Given the description of an element on the screen output the (x, y) to click on. 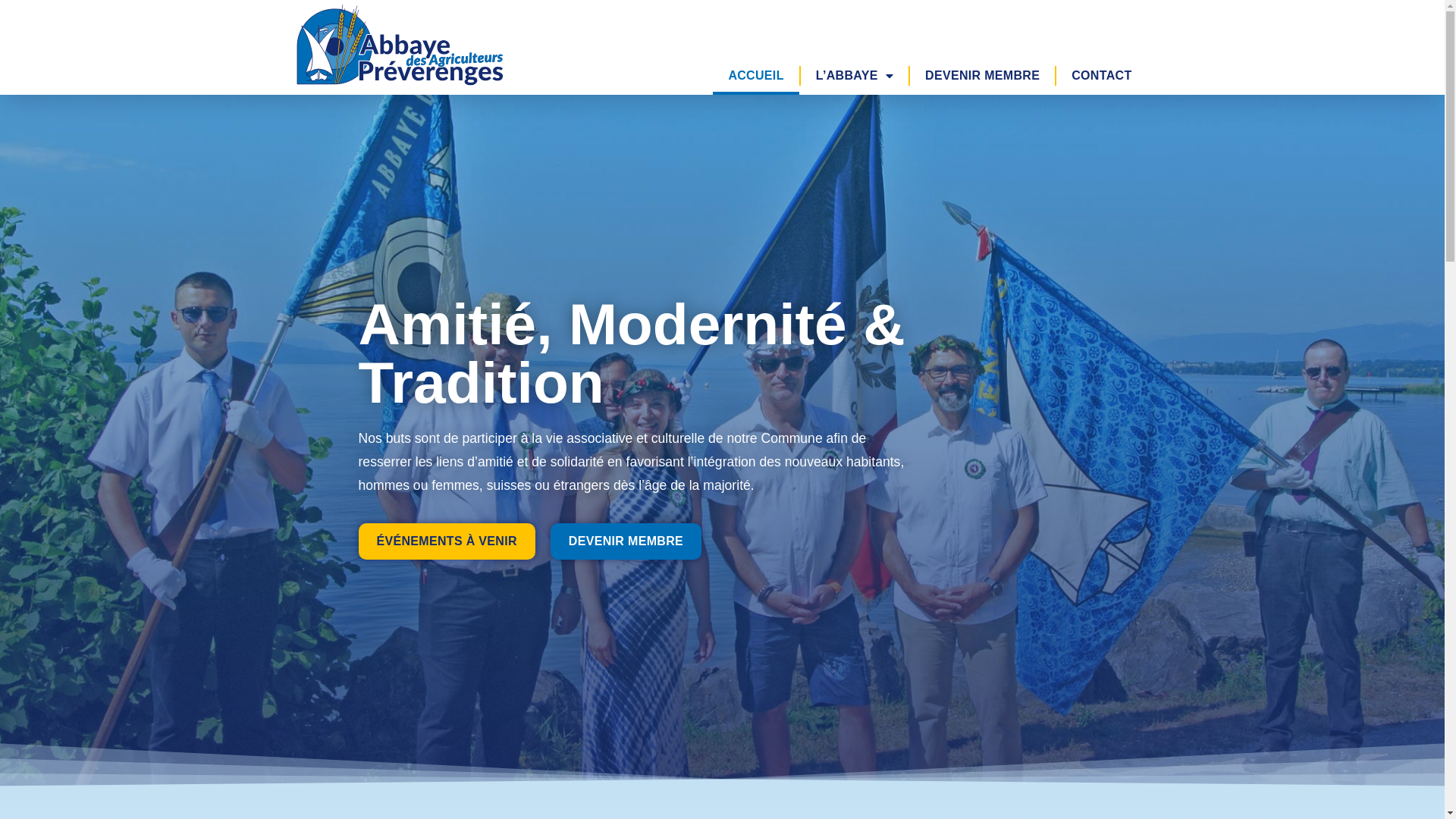
DEVENIR MEMBRE Element type: text (625, 541)
DEVENIR MEMBRE Element type: text (982, 75)
CONTACT Element type: text (1101, 75)
ACCUEIL Element type: text (755, 75)
